Given the description of an element on the screen output the (x, y) to click on. 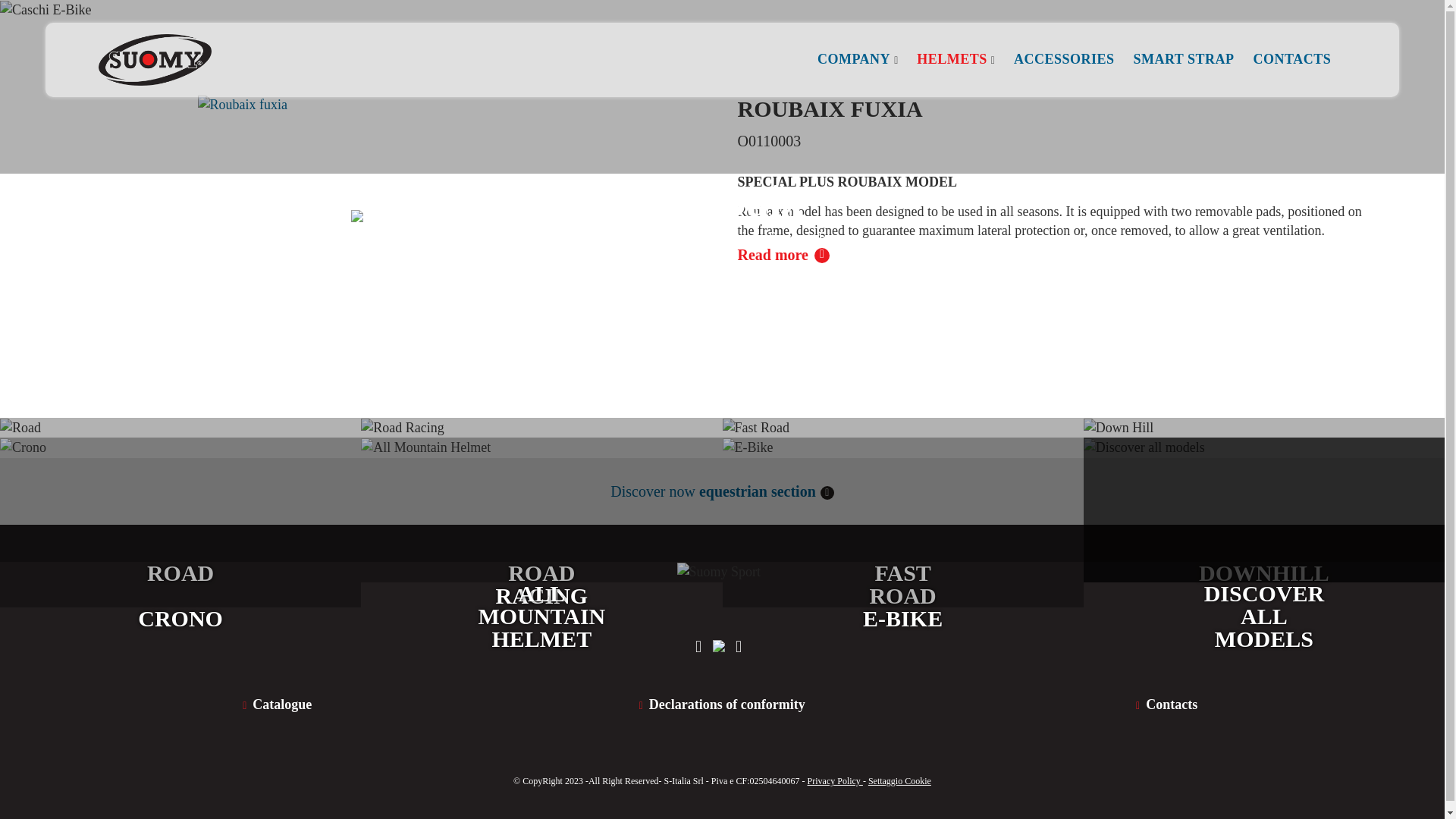
CONTACTS (902, 489)
SMART STRAP (1292, 59)
Helmets (1182, 59)
Contacts (667, 237)
Click to preview image (1166, 704)
Catalogue Cycling (387, 135)
Road - Cycling Helmets (276, 704)
Cycling Declaration of conformity (180, 489)
cycling helmets - Road Racing (721, 704)
cycling helmets - Crono (541, 489)
ACCESSORIES (180, 522)
cycling helmets - Fast Road (541, 489)
Home (1064, 59)
